Given the description of an element on the screen output the (x, y) to click on. 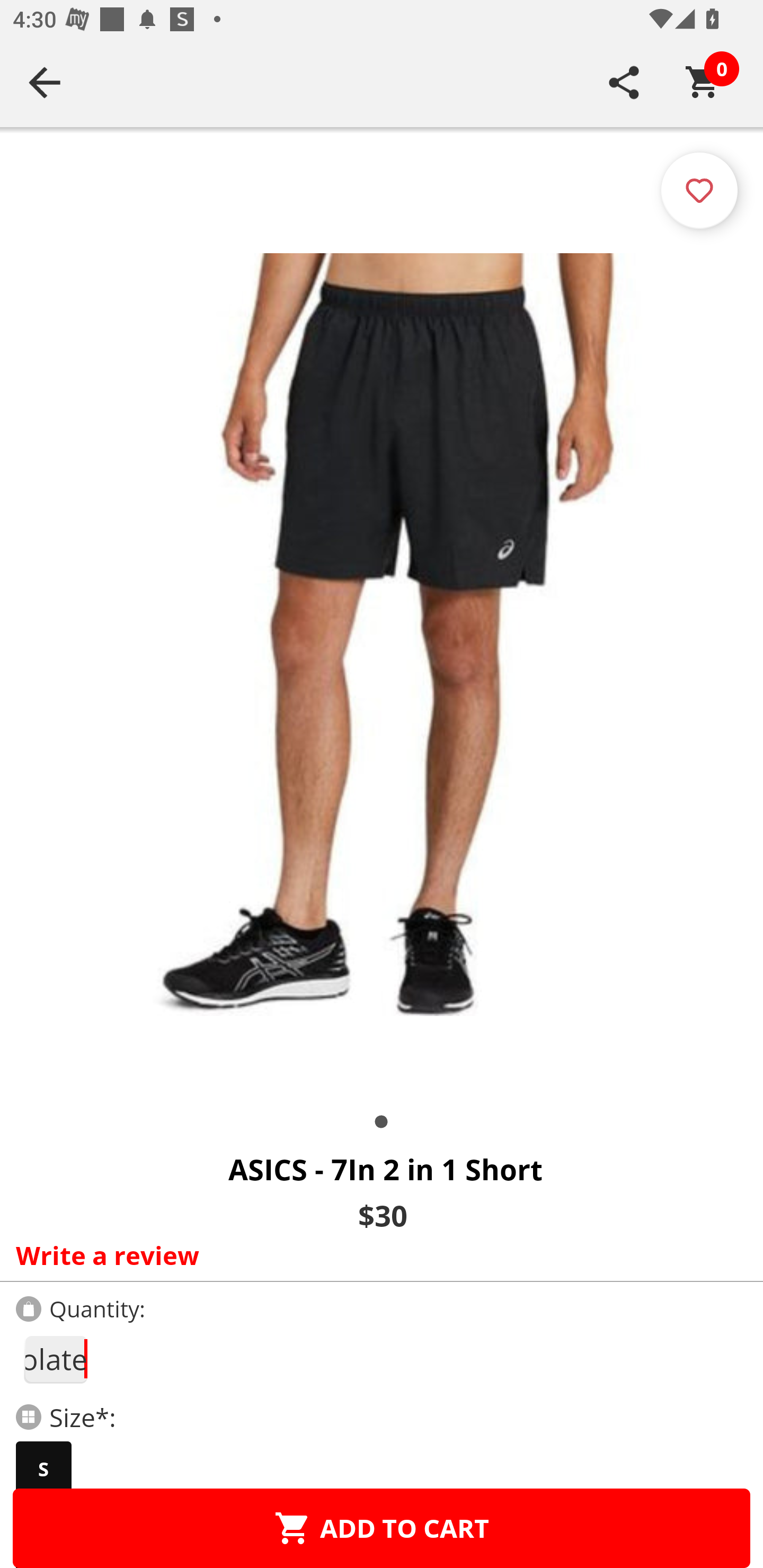
Navigate up (44, 82)
SHARE (623, 82)
Cart (703, 81)
Write a review (377, 1255)
1chocolate (55, 1358)
S (43, 1468)
ADD TO CART (381, 1528)
